Given the description of an element on the screen output the (x, y) to click on. 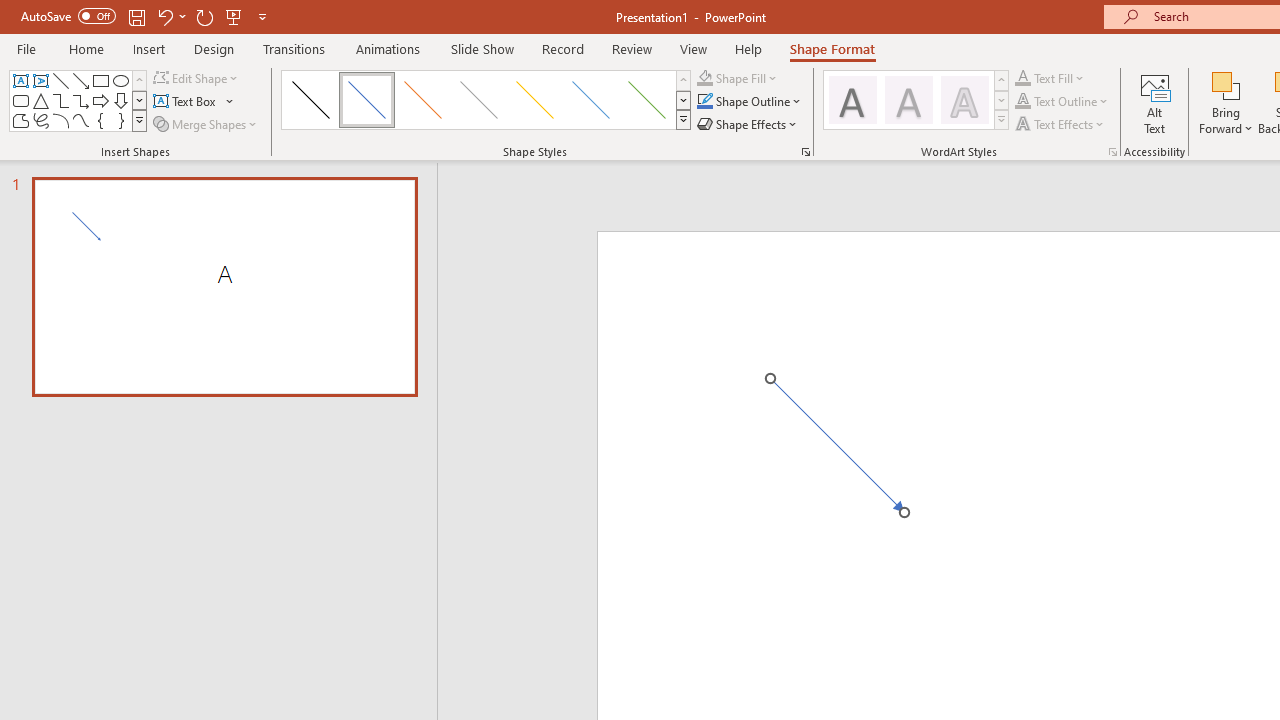
Text Fill (1023, 78)
Draw Horizontal Text Box (185, 101)
AutomationID: ShapeStylesGallery (486, 99)
Text Effects (1061, 124)
Text Fill (1050, 78)
Subtle Line - Accent 1 (367, 100)
Fill: Blue, Accent color 1; Shadow (908, 100)
